Given the description of an element on the screen output the (x, y) to click on. 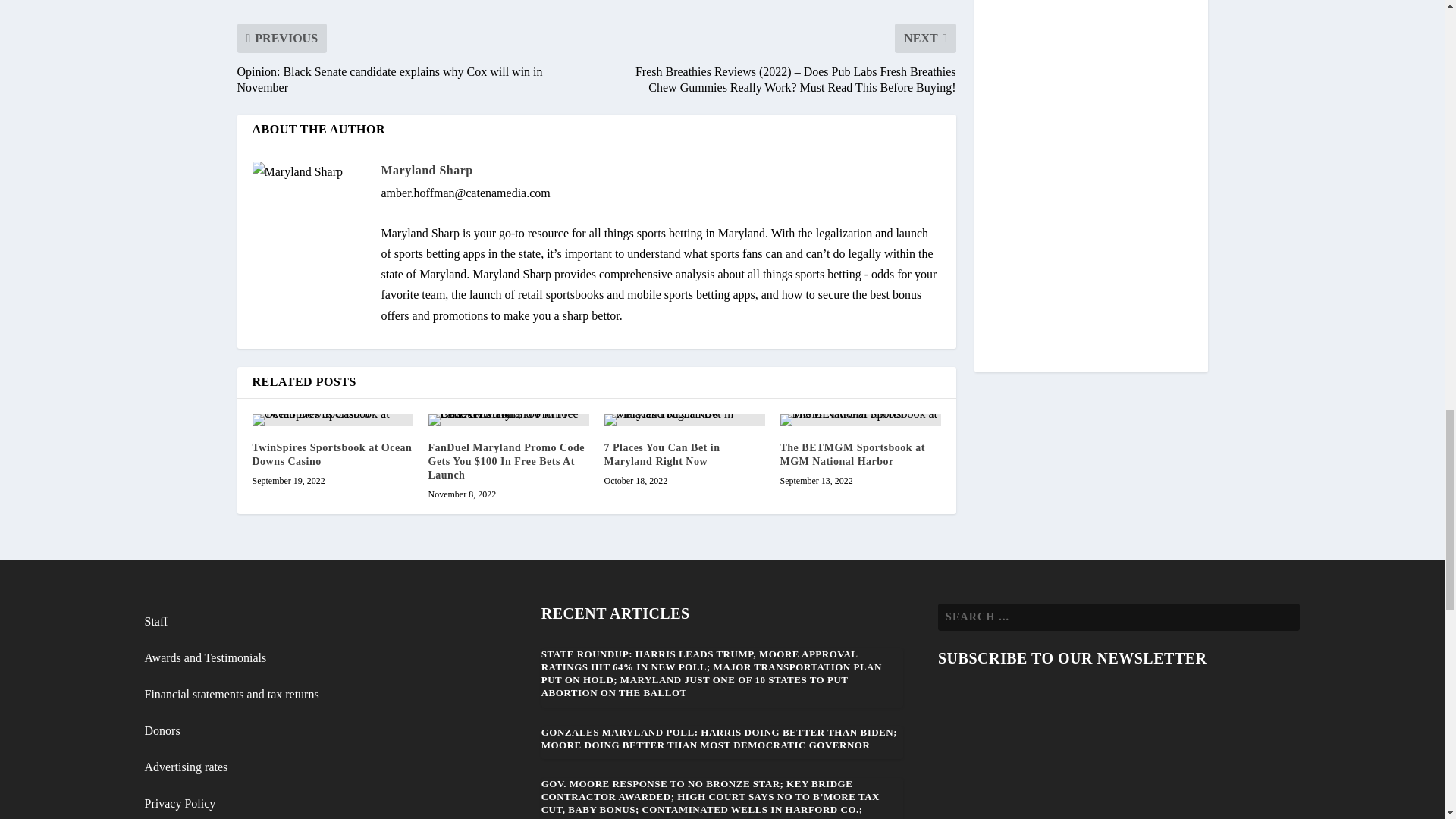
Maryland Sharp (425, 169)
TwinSpires Sportsbook at Ocean Downs Casino (331, 454)
The BETMGM Sportsbook at MGM National Harbor (859, 419)
TwinSpires Sportsbook at Ocean Downs Casino (331, 419)
The BETMGM Sportsbook at MGM National Harbor (851, 454)
View all posts by Maryland Sharp (425, 169)
7 Places You Can Bet in Maryland Right Now (661, 454)
7 Places You Can Bet in Maryland Right Now (684, 419)
